Given the description of an element on the screen output the (x, y) to click on. 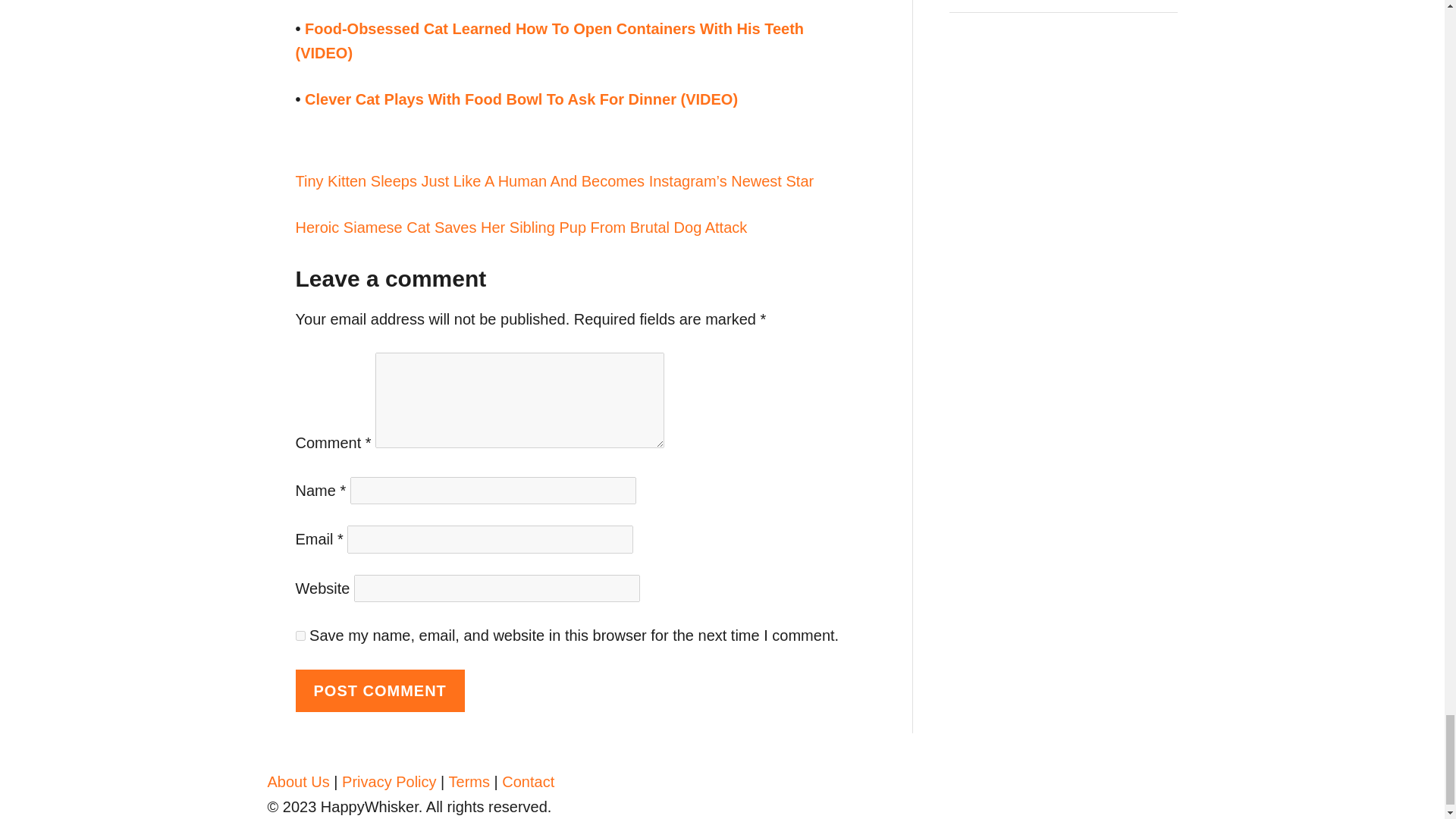
yes (300, 635)
Post Comment (379, 690)
About Us (297, 781)
Terms (468, 781)
Post Comment (379, 690)
Contact (528, 781)
Privacy Policy (388, 781)
